Given the description of an element on the screen output the (x, y) to click on. 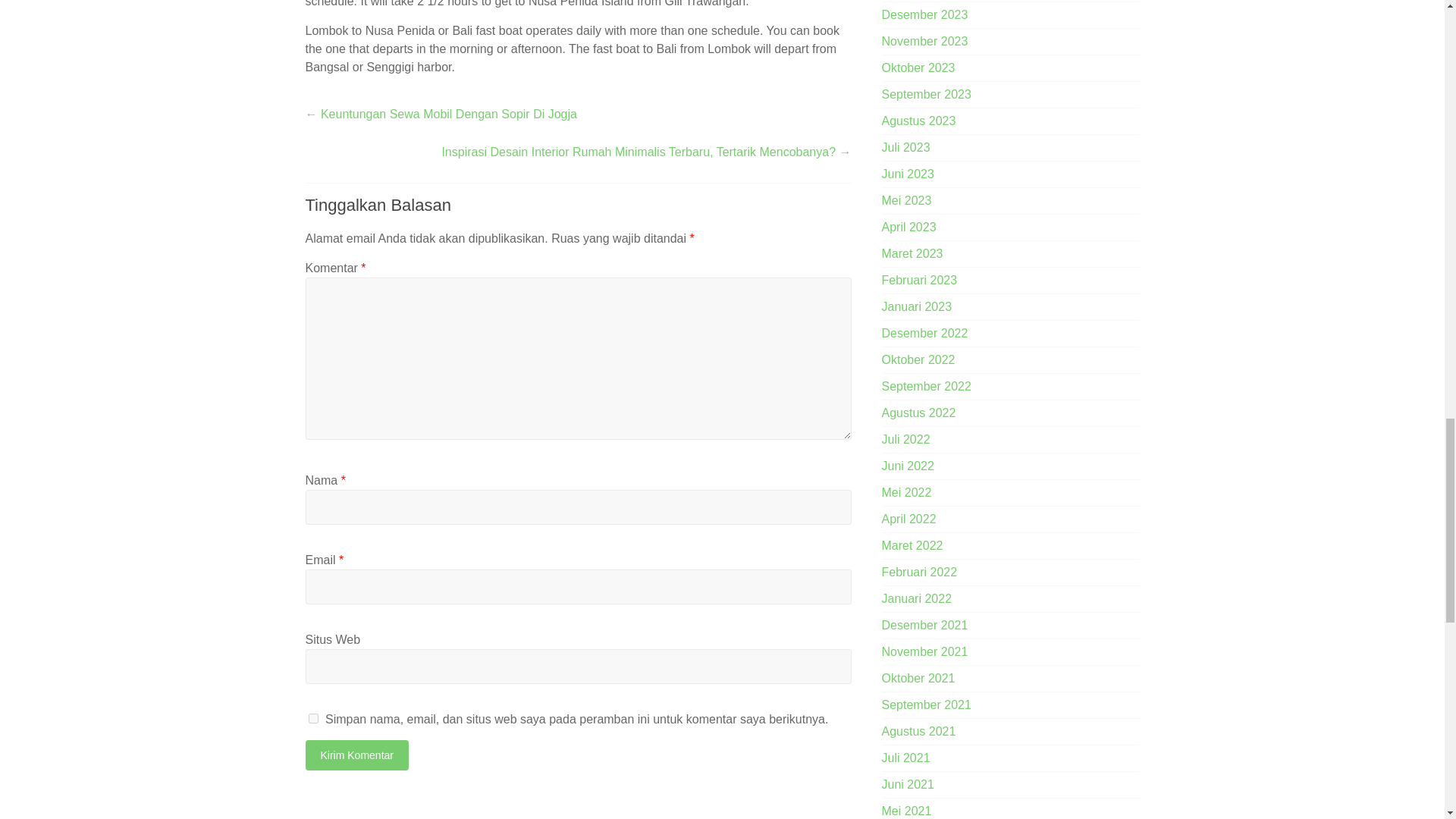
yes (312, 718)
Kirim Komentar (355, 755)
Kirim Komentar (355, 755)
